Given the description of an element on the screen output the (x, y) to click on. 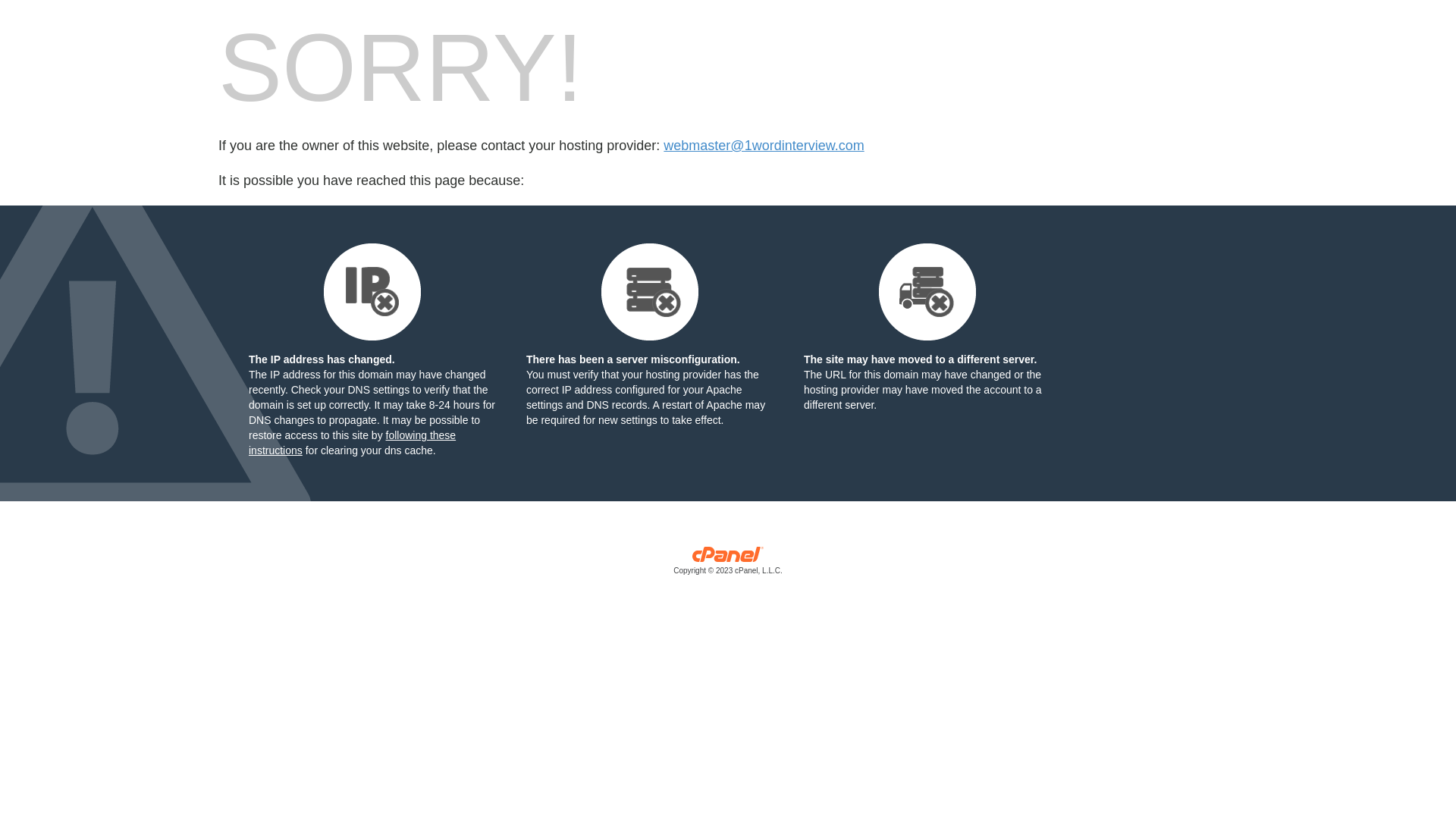
webmaster@1wordinterview.com Element type: text (763, 145)
following these instructions Element type: text (351, 442)
